Given the description of an element on the screen output the (x, y) to click on. 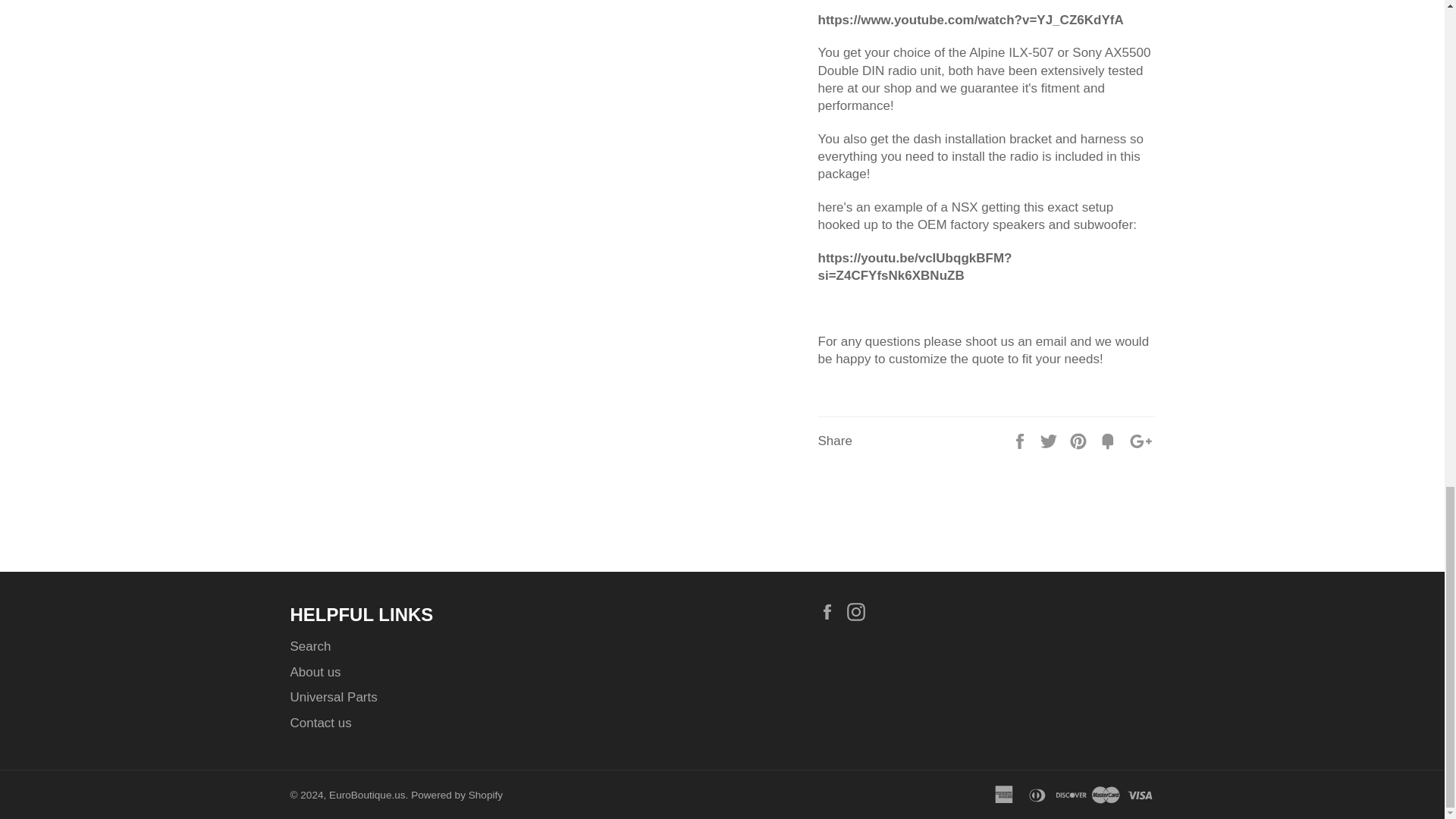
Share on Facebook (1021, 440)
EuroBoutique.us on Instagram (859, 610)
Add to Fancy (1110, 440)
Pin on Pinterest (1079, 440)
Tweet on Twitter (1050, 440)
EuroBoutique.us on Facebook (829, 610)
